Given the description of an element on the screen output the (x, y) to click on. 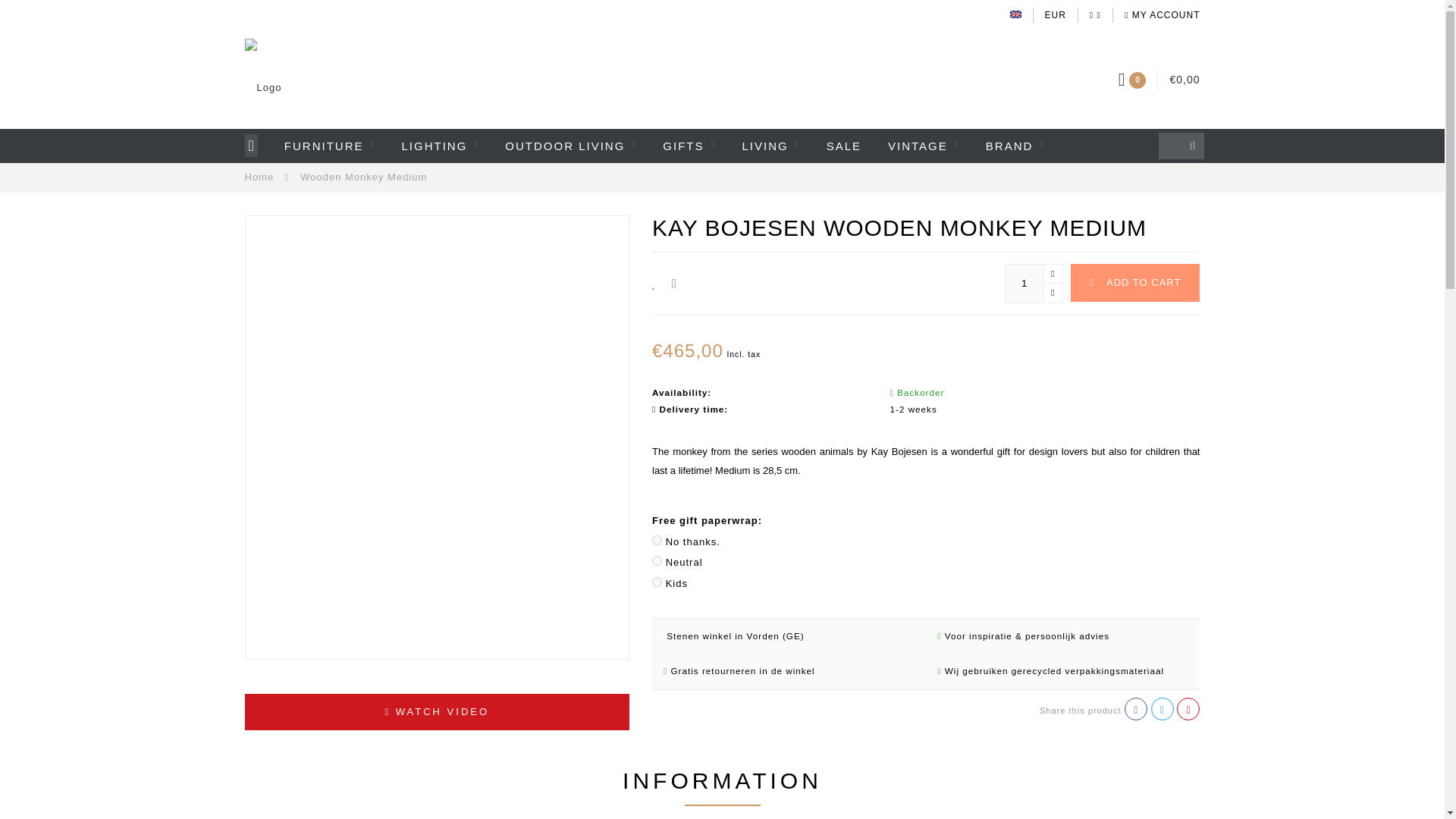
EUR (1055, 14)
38490371 (657, 540)
FURNITURE (329, 145)
MY ACCOUNT (1161, 14)
LIGHTING (440, 145)
1 (1034, 283)
38490377 (657, 582)
38490374 (657, 560)
Home (258, 176)
